Given the description of an element on the screen output the (x, y) to click on. 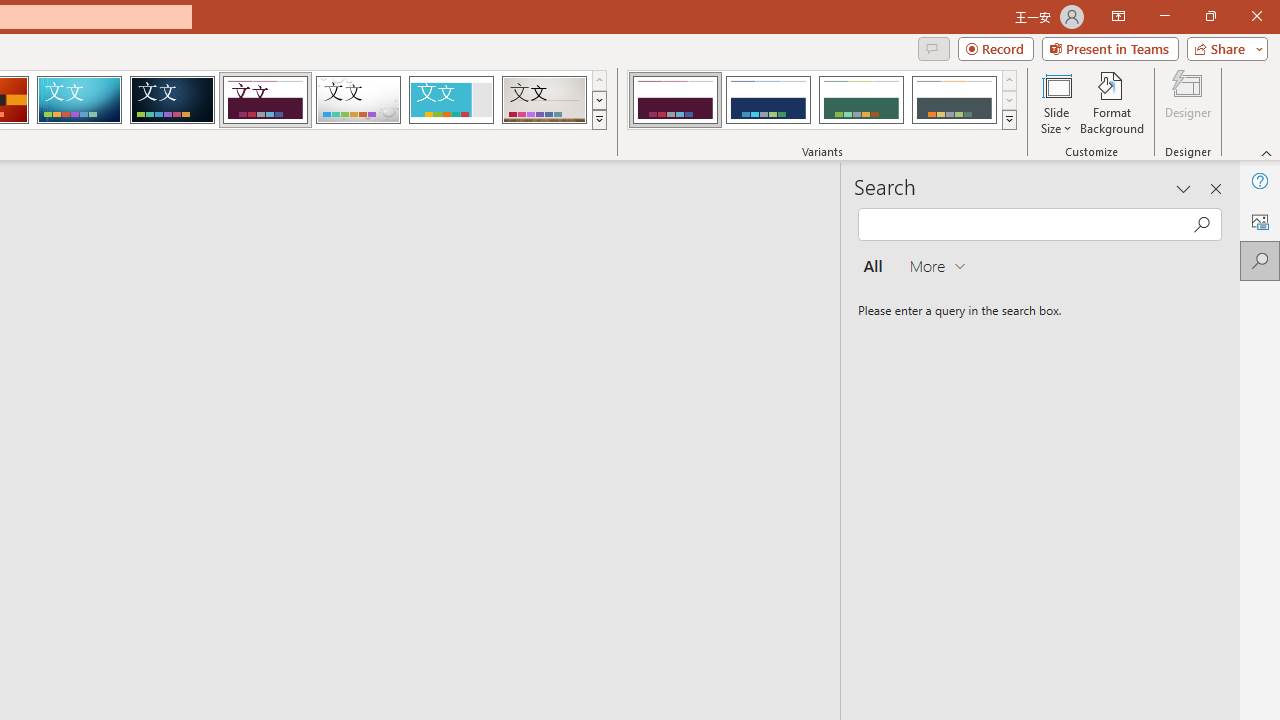
Dividend (265, 100)
